Given the description of an element on the screen output the (x, y) to click on. 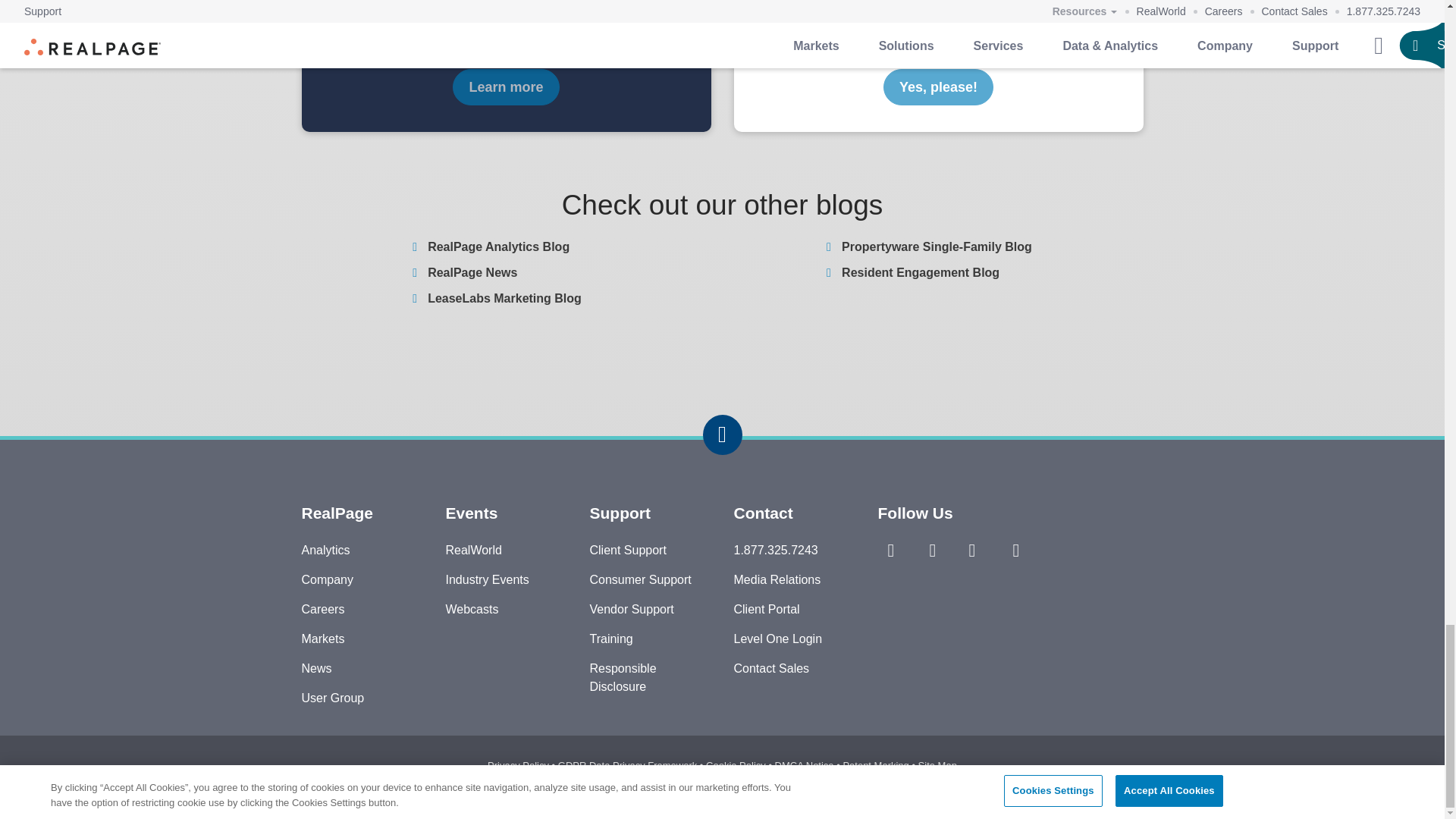
Back to top (721, 434)
